Given the description of an element on the screen output the (x, y) to click on. 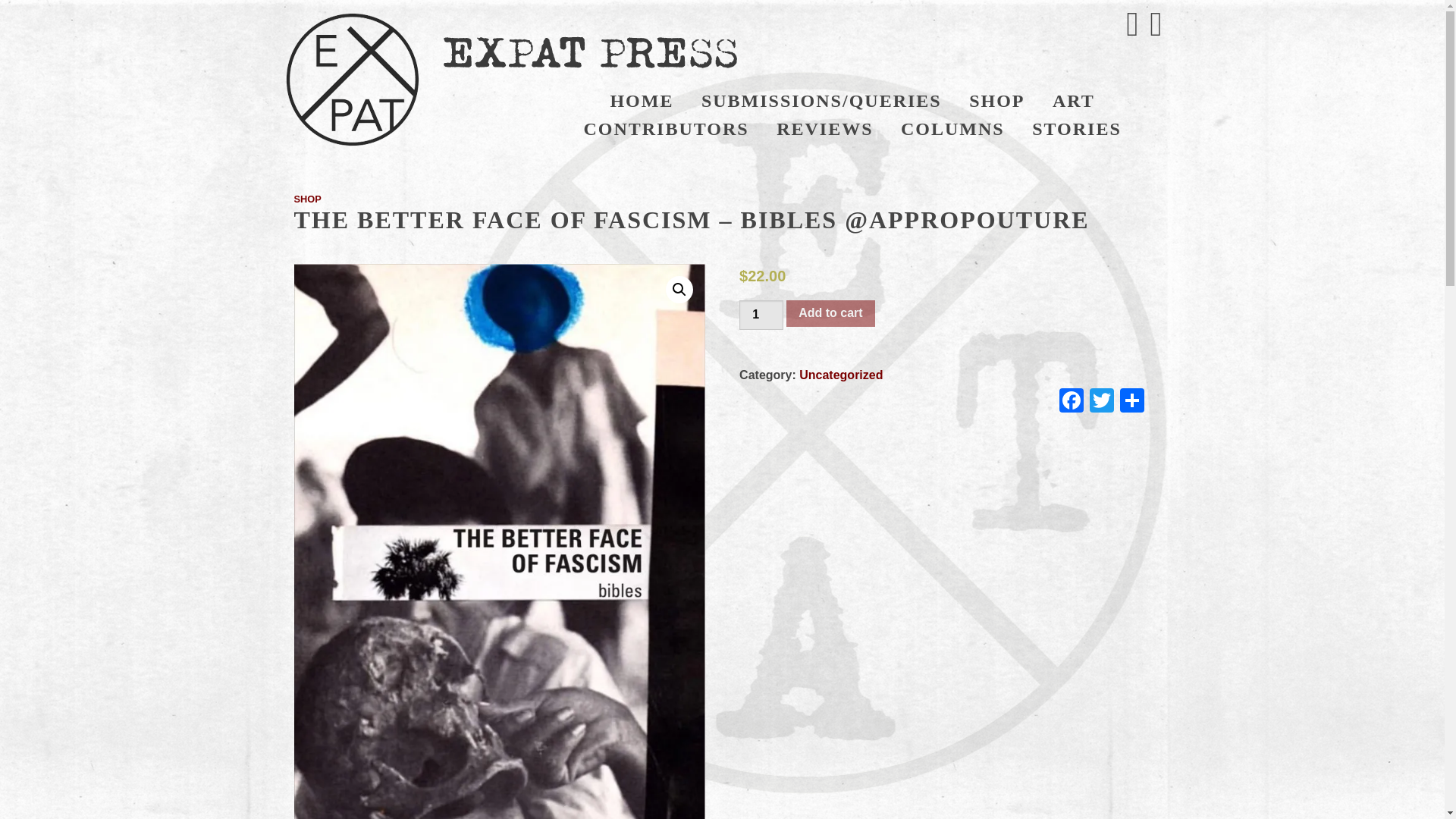
Share (1131, 402)
SHOP (307, 198)
Twitter (1101, 402)
COLUMNS (952, 129)
ART (1073, 100)
Add to cart (830, 313)
Facebook (1070, 402)
STORIES (1077, 129)
Twitter (1101, 402)
1 (761, 315)
Facebook (1070, 402)
CONTRIBUTORS (665, 129)
REVIEWS (824, 129)
Uncategorized (840, 374)
SHOP (996, 100)
